Given the description of an element on the screen output the (x, y) to click on. 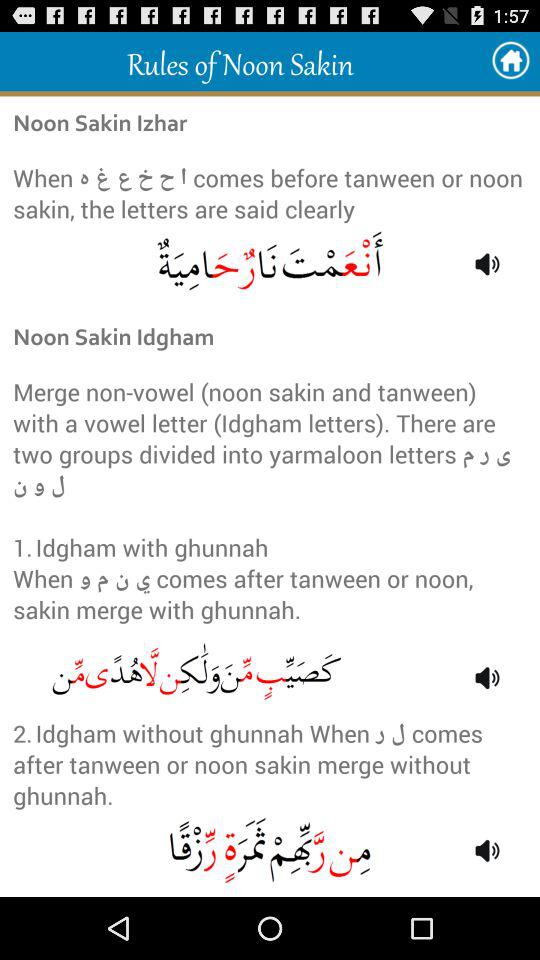
select the first volume symbol from top (487, 263)
click on second volume icon on right side (487, 678)
go to home button (510, 61)
